Given the description of an element on the screen output the (x, y) to click on. 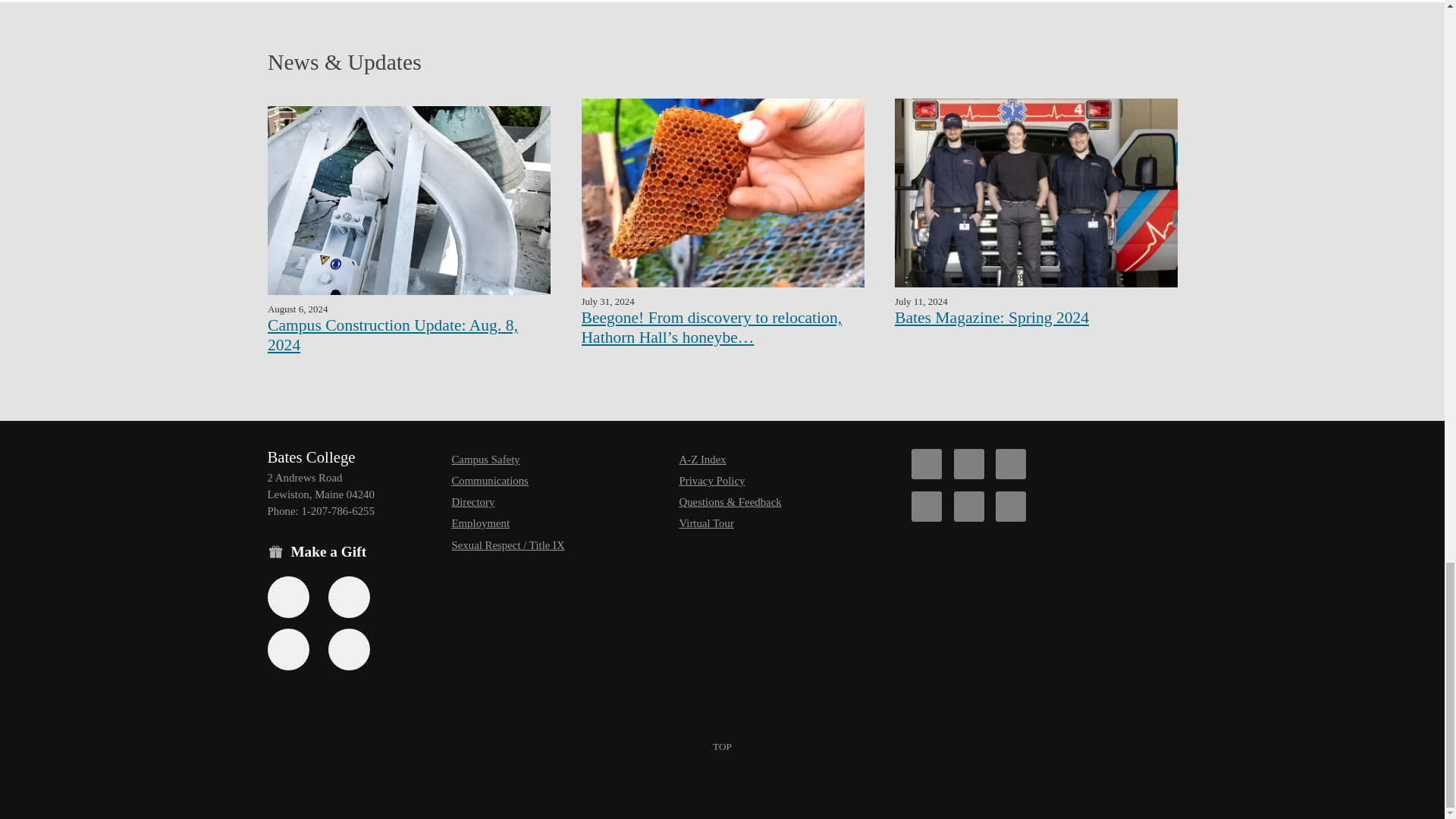
YouTube icon (968, 506)
Instagram icon (926, 506)
Twitter icon (968, 463)
LinkedIn icon (1010, 506)
Facebook icon (926, 463)
Tiktok icon (1010, 463)
